Given the description of an element on the screen output the (x, y) to click on. 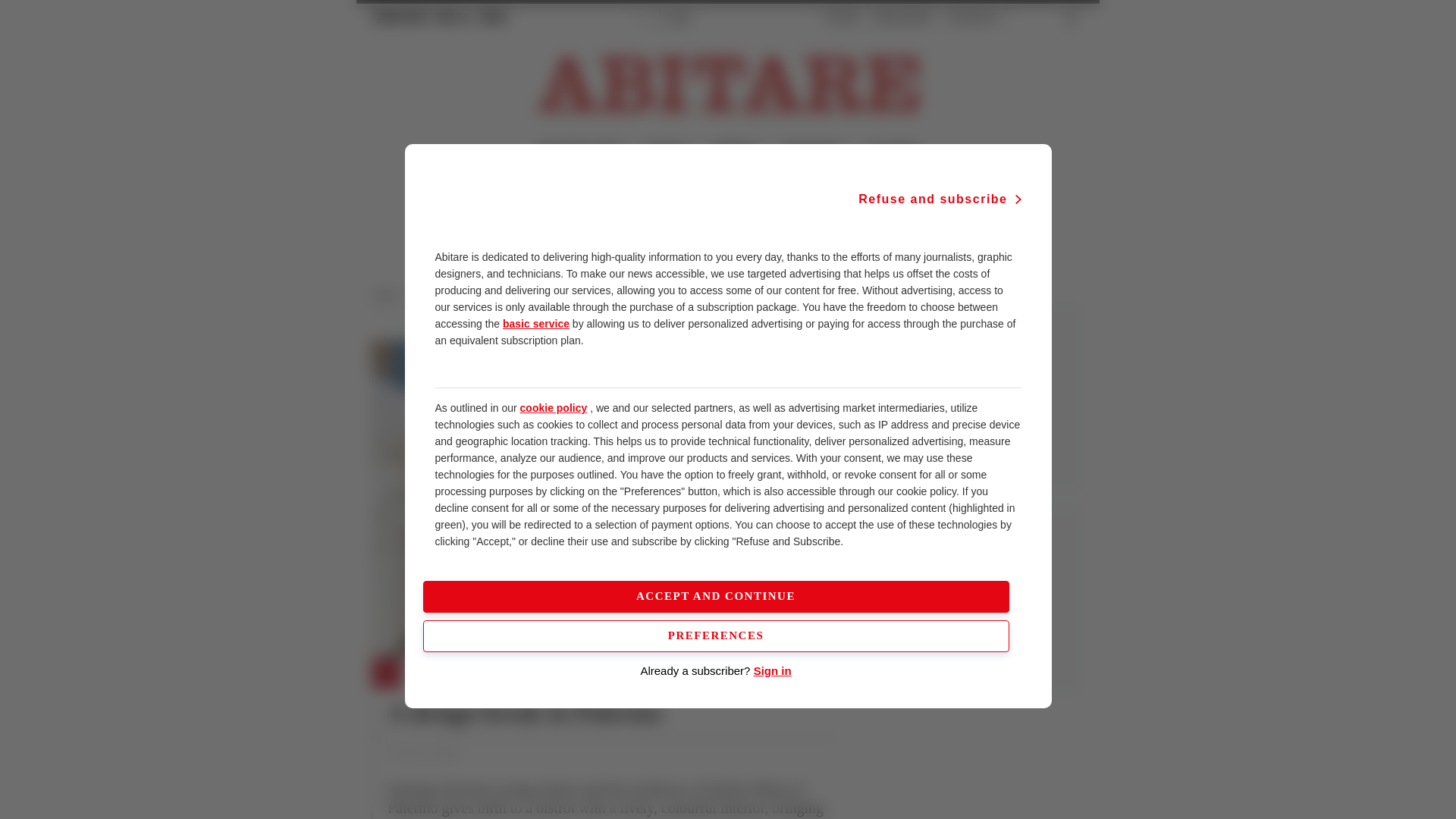
Il Corriere della Sera (439, 17)
LOGIN (842, 18)
CONTACT (972, 18)
ENG (679, 18)
GALLERY (890, 150)
PROJECTS (439, 674)
Francesca Oddo (422, 753)
HABITAT (735, 150)
ARCHITECTURE (578, 150)
Architecture (442, 294)
REGISTER (903, 18)
RESEARCH (812, 150)
Projects (498, 294)
DESIGN (666, 150)
Search (1035, 17)
